Given the description of an element on the screen output the (x, y) to click on. 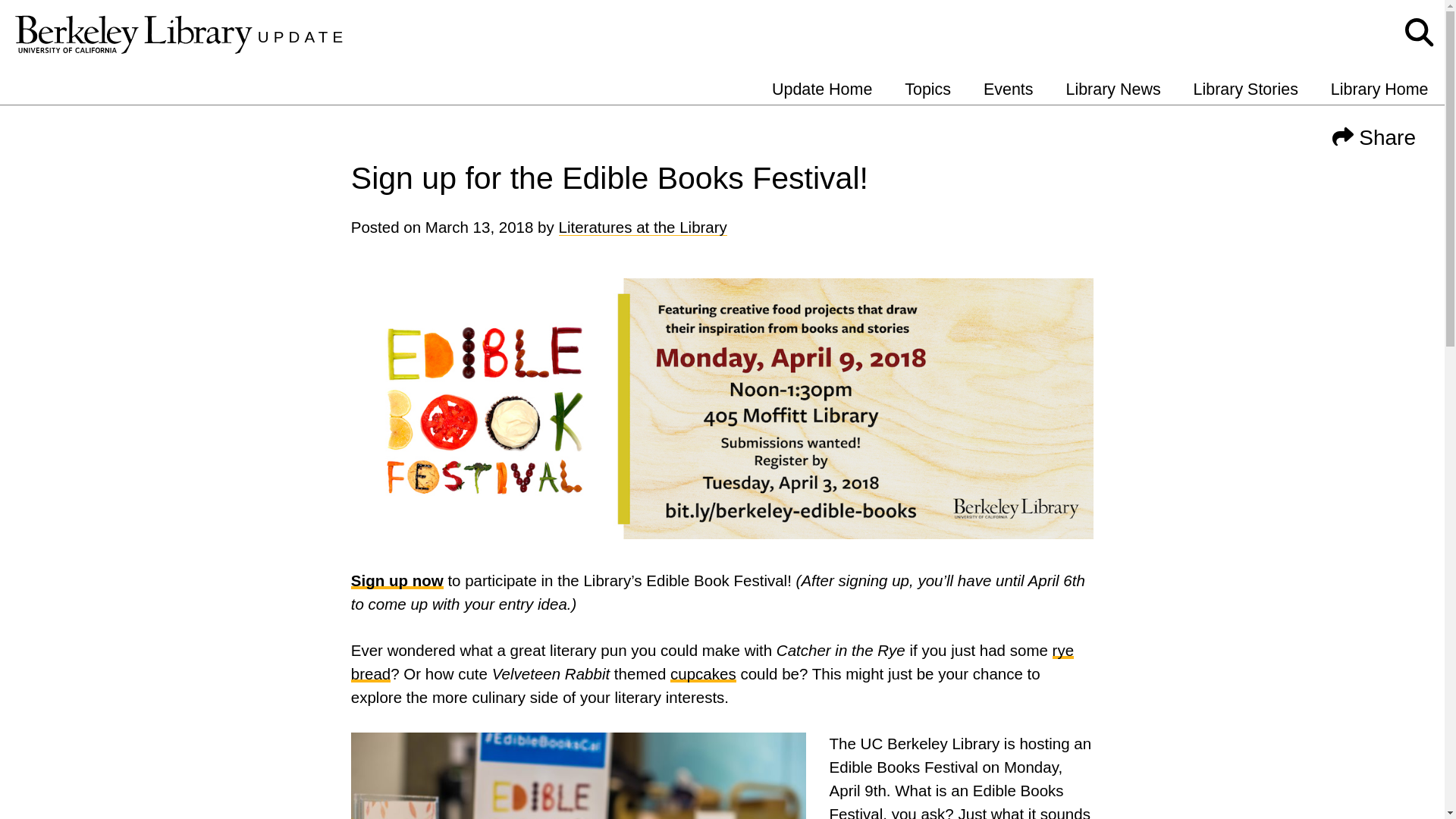
Library Stories (1245, 88)
Sign up now (397, 579)
Topics (927, 88)
cupcakes (702, 673)
Share (1373, 134)
UPDATE (302, 36)
Library News (1112, 88)
Show and hide search (1419, 32)
Events (1007, 88)
rye bread (712, 661)
Literatures at the Library (641, 226)
Update Home (822, 88)
Library Home (1378, 88)
